Given the description of an element on the screen output the (x, y) to click on. 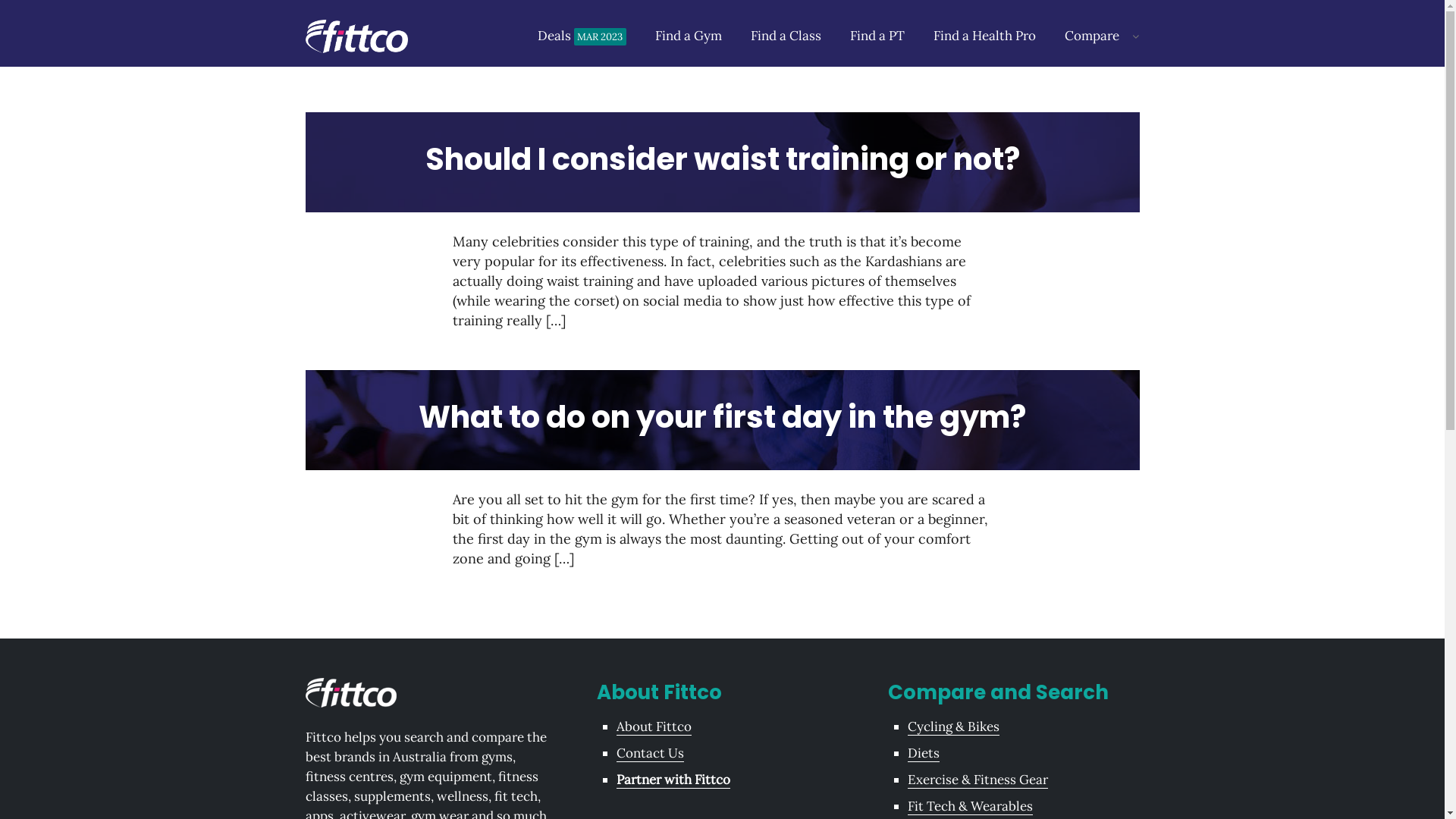
Compare Element type: text (1091, 35)
Find a Health Pro Element type: text (984, 35)
About Fittco Element type: text (652, 726)
Cycling & Bikes Element type: text (952, 726)
Find a Gym Element type: text (688, 35)
Contact Us Element type: text (649, 753)
Find a Class Element type: text (785, 35)
Diets Element type: text (922, 753)
DealsMAR 2023 Element type: text (581, 36)
Fit Tech & Wearables Element type: text (969, 806)
Exercise & Fitness Gear Element type: text (976, 779)
Fittco Element type: hover (355, 36)
Find a PT Element type: text (877, 35)
Partner with Fittco Element type: text (672, 779)
